Given the description of an element on the screen output the (x, y) to click on. 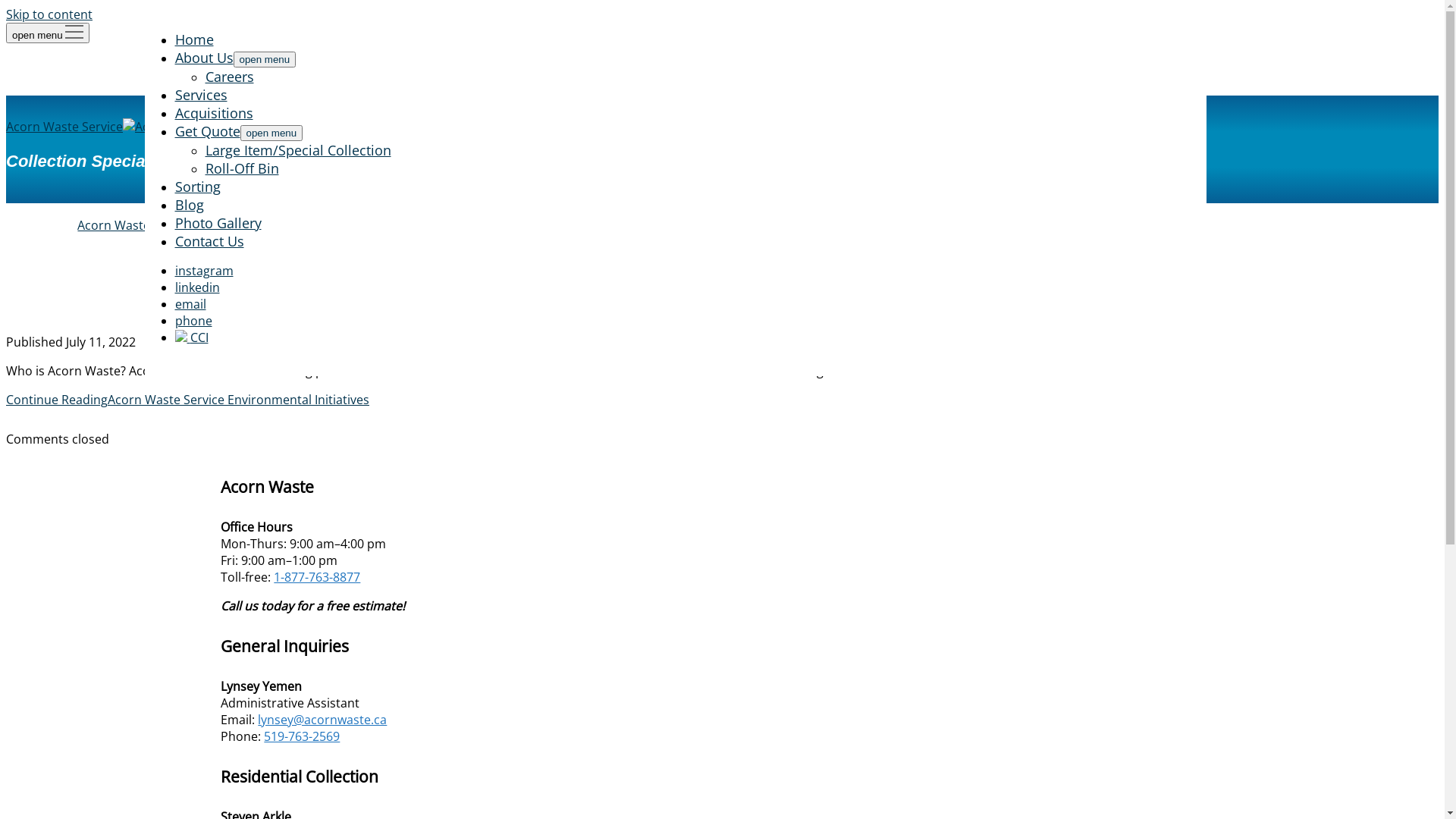
open menu Element type: text (264, 59)
Blog Element type: text (188, 204)
Large Item/Special Collection Element type: text (297, 150)
Roll-Off Bin Element type: text (241, 168)
email Element type: text (189, 303)
CCI Element type: text (190, 337)
Acorn Waste Service Element type: text (145, 126)
Photo Gallery Element type: text (217, 222)
instagram Element type: text (203, 270)
Services Element type: text (200, 94)
Get Quote Element type: text (206, 131)
lynsey@acornwaste.ca Element type: text (321, 719)
Sorting Element type: text (196, 186)
Skip to content Element type: text (49, 14)
open menu Element type: text (270, 133)
519-763-2569 Element type: text (301, 736)
Home Element type: text (193, 39)
Acorn Waste Service Environmental Initiatives Element type: text (284, 224)
Acquisitions Element type: text (213, 112)
Careers Element type: text (228, 76)
linkedin Element type: text (196, 287)
open menu Element type: text (47, 32)
1-877-763-8877 Element type: text (316, 576)
Contact Us Element type: text (208, 241)
About Us Element type: text (203, 57)
phone Element type: text (192, 320)
